Given the description of an element on the screen output the (x, y) to click on. 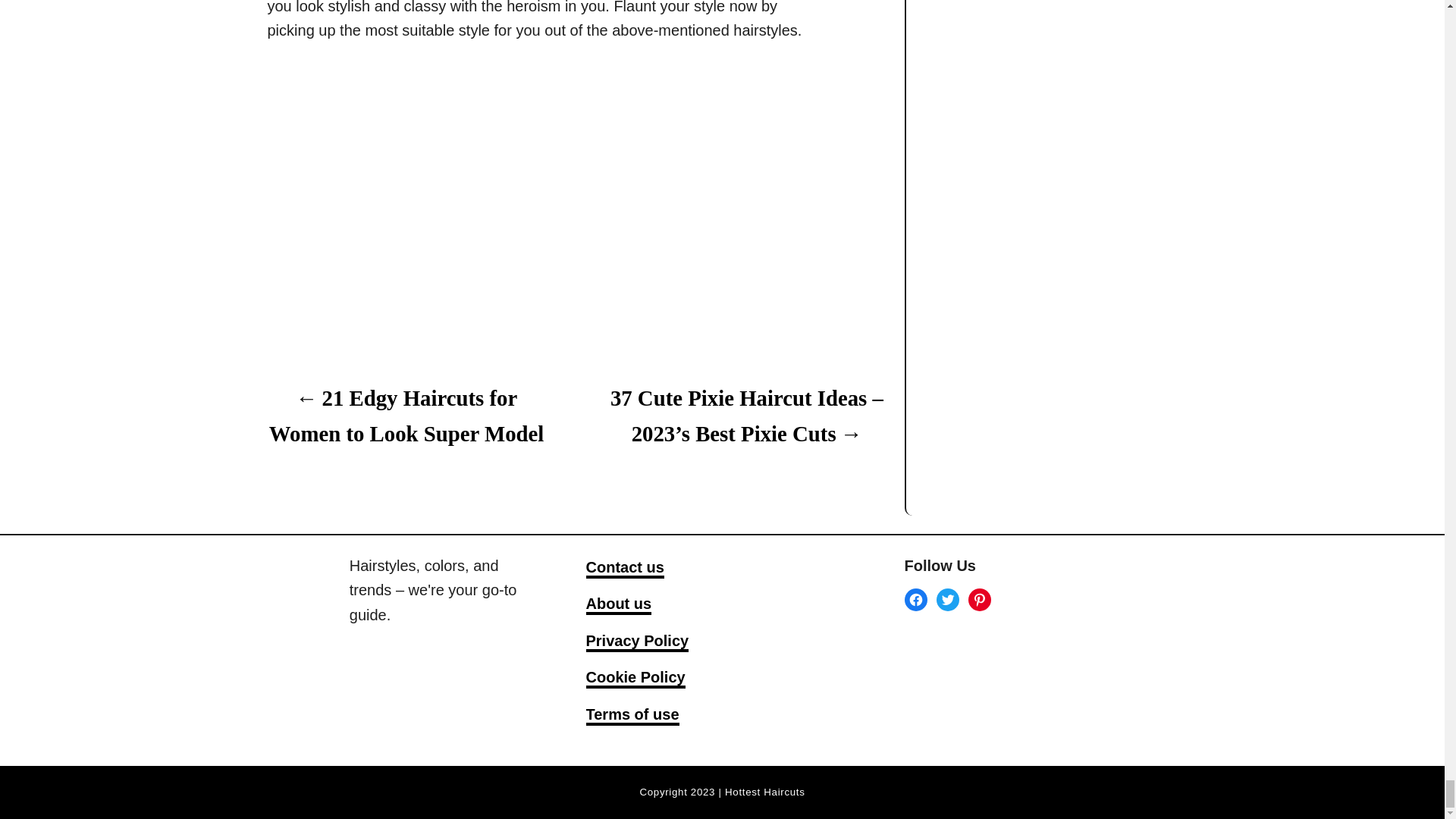
21 Edgy Haircuts for Women to Look Super Model (405, 416)
